Given the description of an element on the screen output the (x, y) to click on. 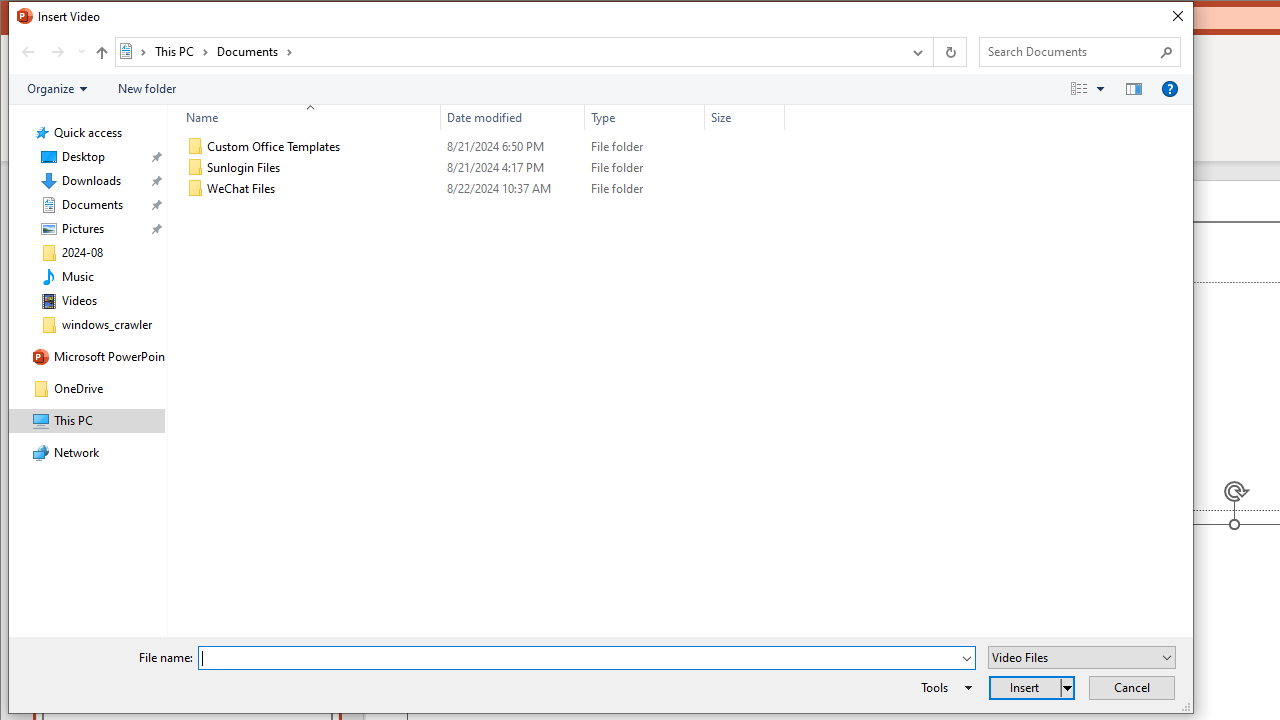
Navigation buttons (50, 51)
Command Module (600, 89)
